Given the description of an element on the screen output the (x, y) to click on. 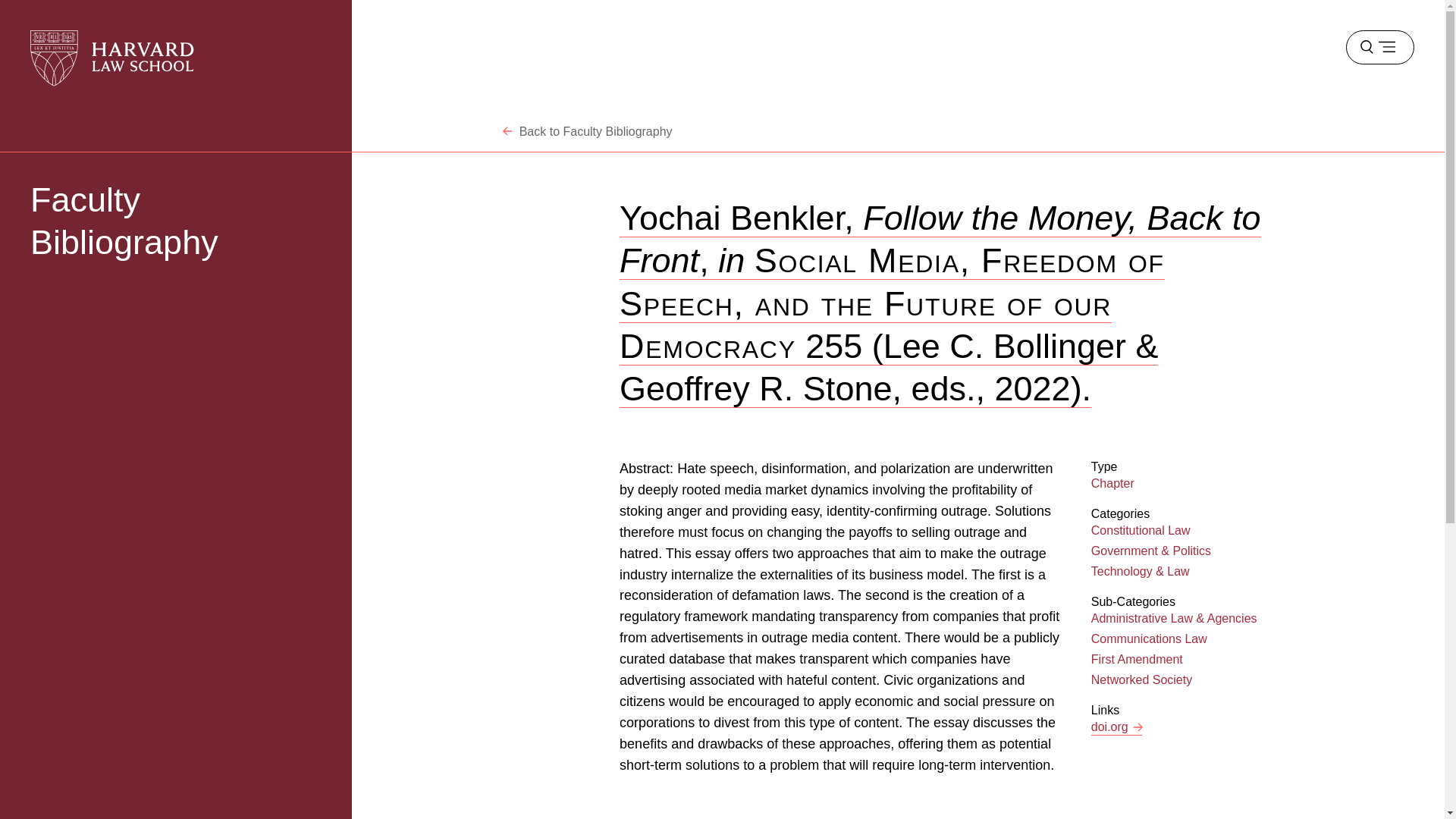
Open menu (1379, 47)
Harvard Law School (111, 58)
